Given the description of an element on the screen output the (x, y) to click on. 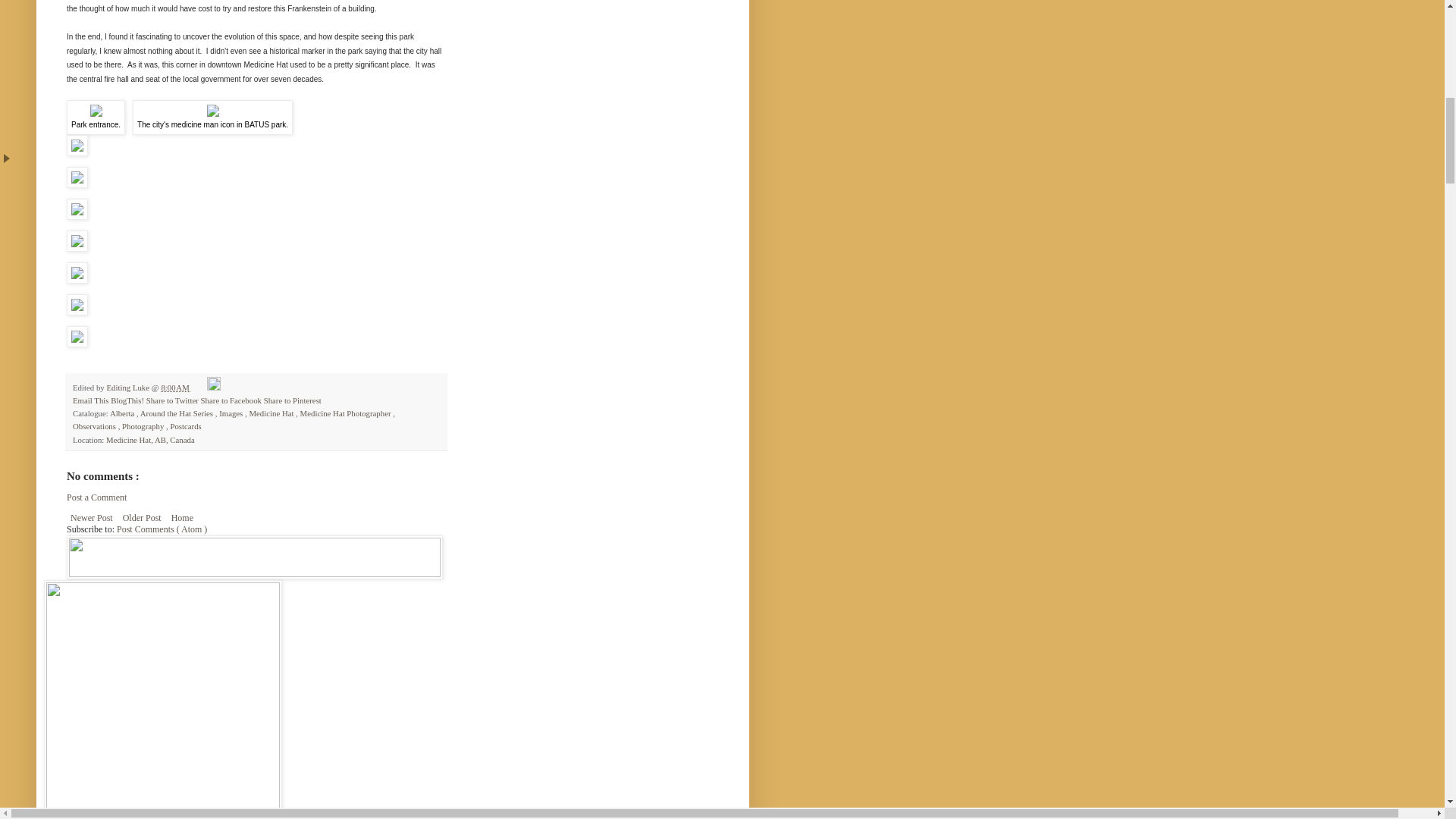
Share to Facebook (231, 399)
Alberta (123, 412)
author profile (128, 387)
Images (231, 412)
Medicine Hat Photographer (346, 412)
Email This (91, 399)
Newer Post (92, 517)
Observations (94, 425)
Share to Facebook (231, 399)
Around the Hat Series (177, 412)
BlogThis! (128, 399)
Email Post (198, 387)
Editing Luke (128, 387)
BlogThis! (128, 399)
